Given the description of an element on the screen output the (x, y) to click on. 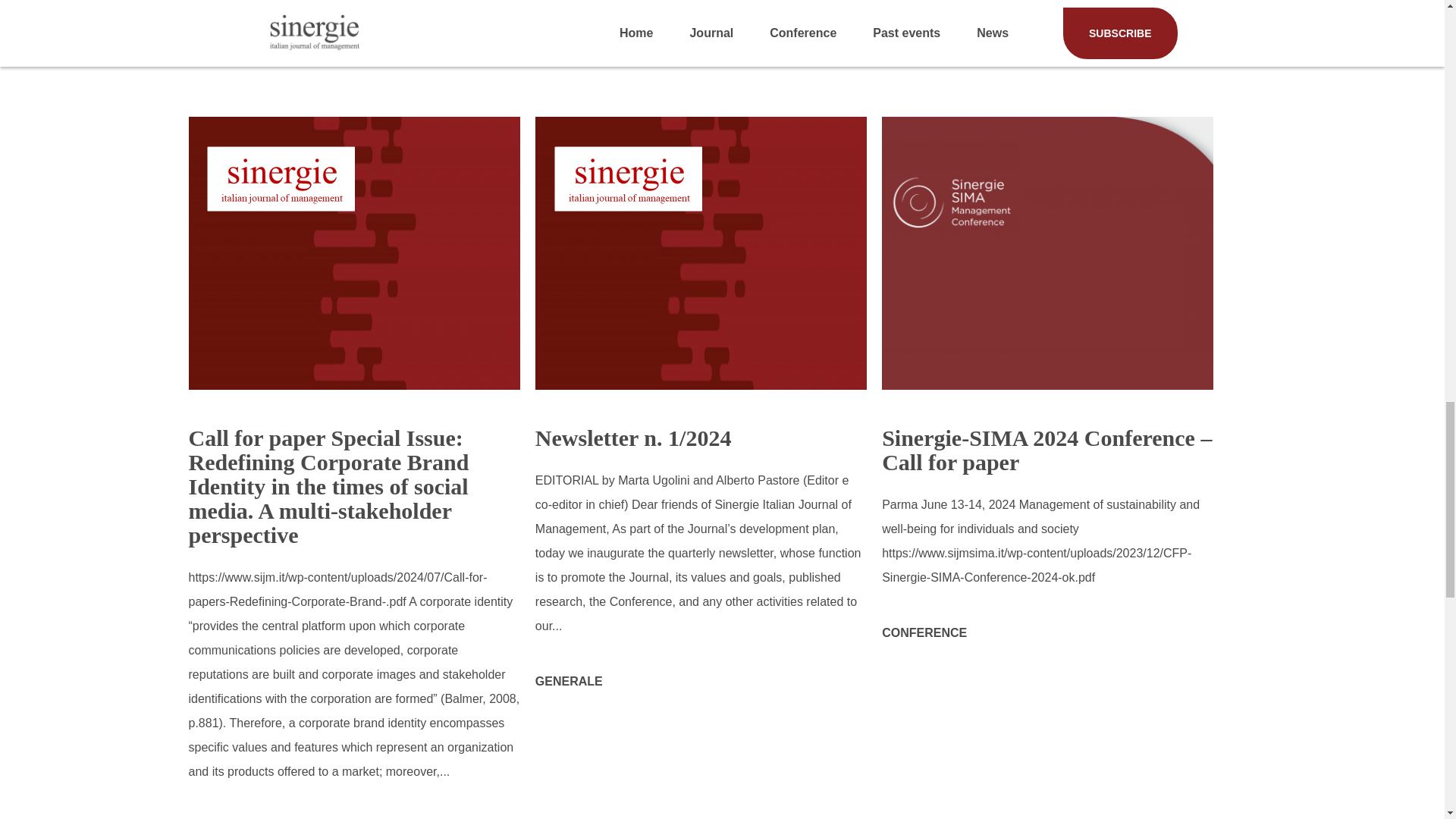
JOURNAL (216, 813)
GENERALE (568, 681)
CONFERENCE (924, 632)
